Given the description of an element on the screen output the (x, y) to click on. 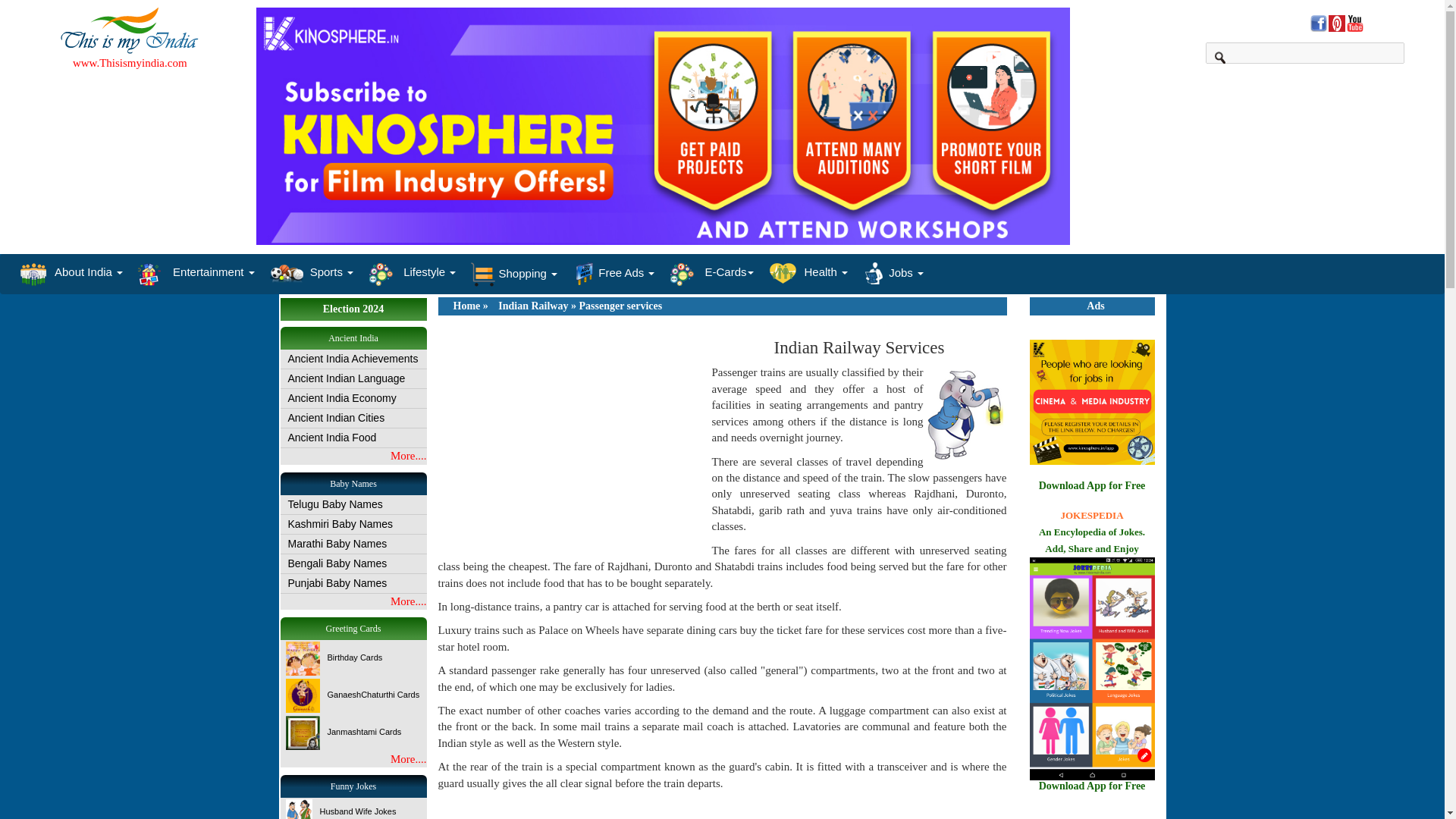
About India (71, 271)
India News (1353, 27)
www.Thisismyindia.com (129, 62)
Entertainment (196, 271)
India News (1317, 27)
India News (1335, 27)
